Given the description of an element on the screen output the (x, y) to click on. 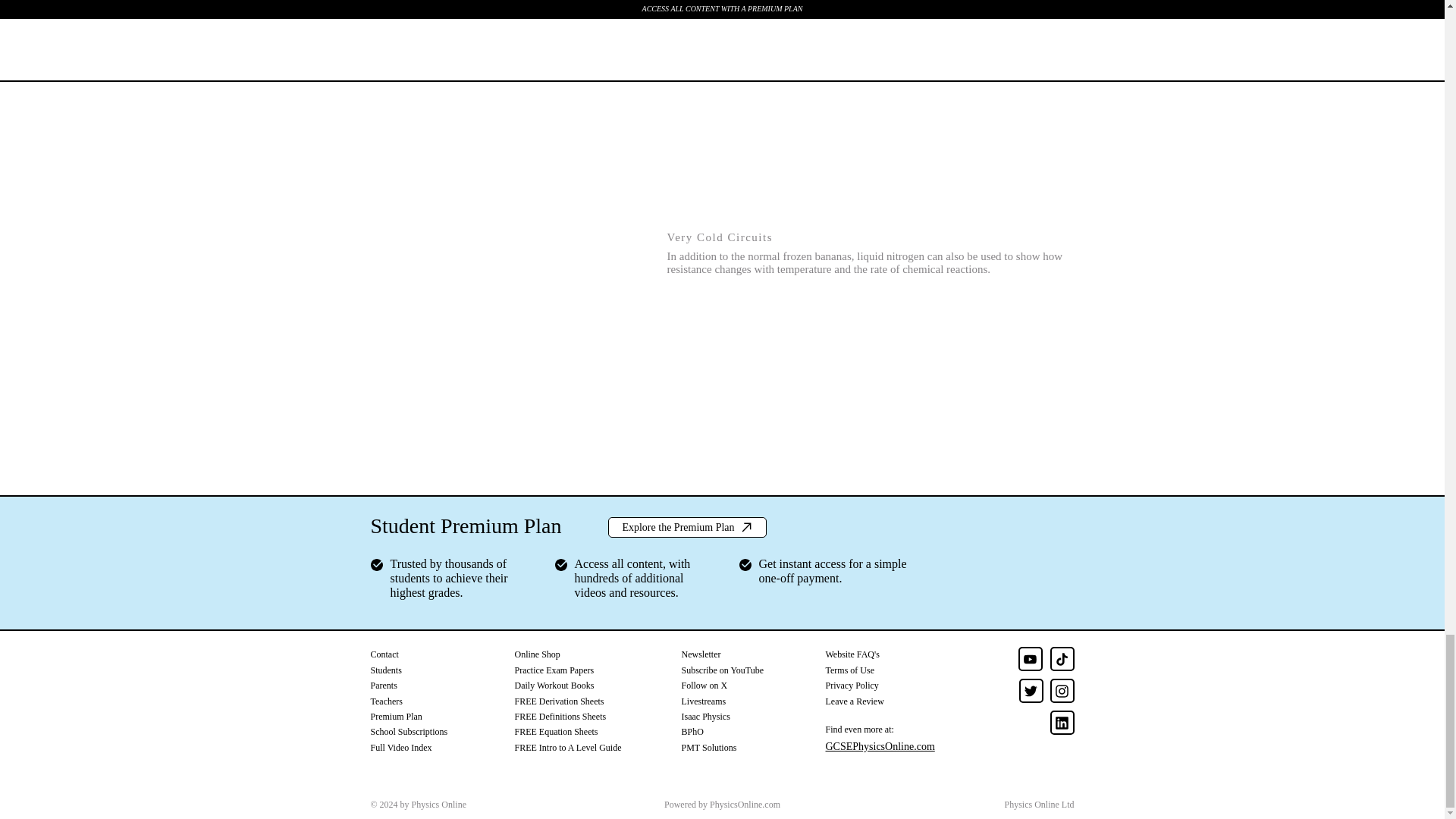
External YouTube (501, 103)
External YouTube (501, 306)
Explore the Premium Plan (687, 526)
Student Premium Plan (464, 525)
